Given the description of an element on the screen output the (x, y) to click on. 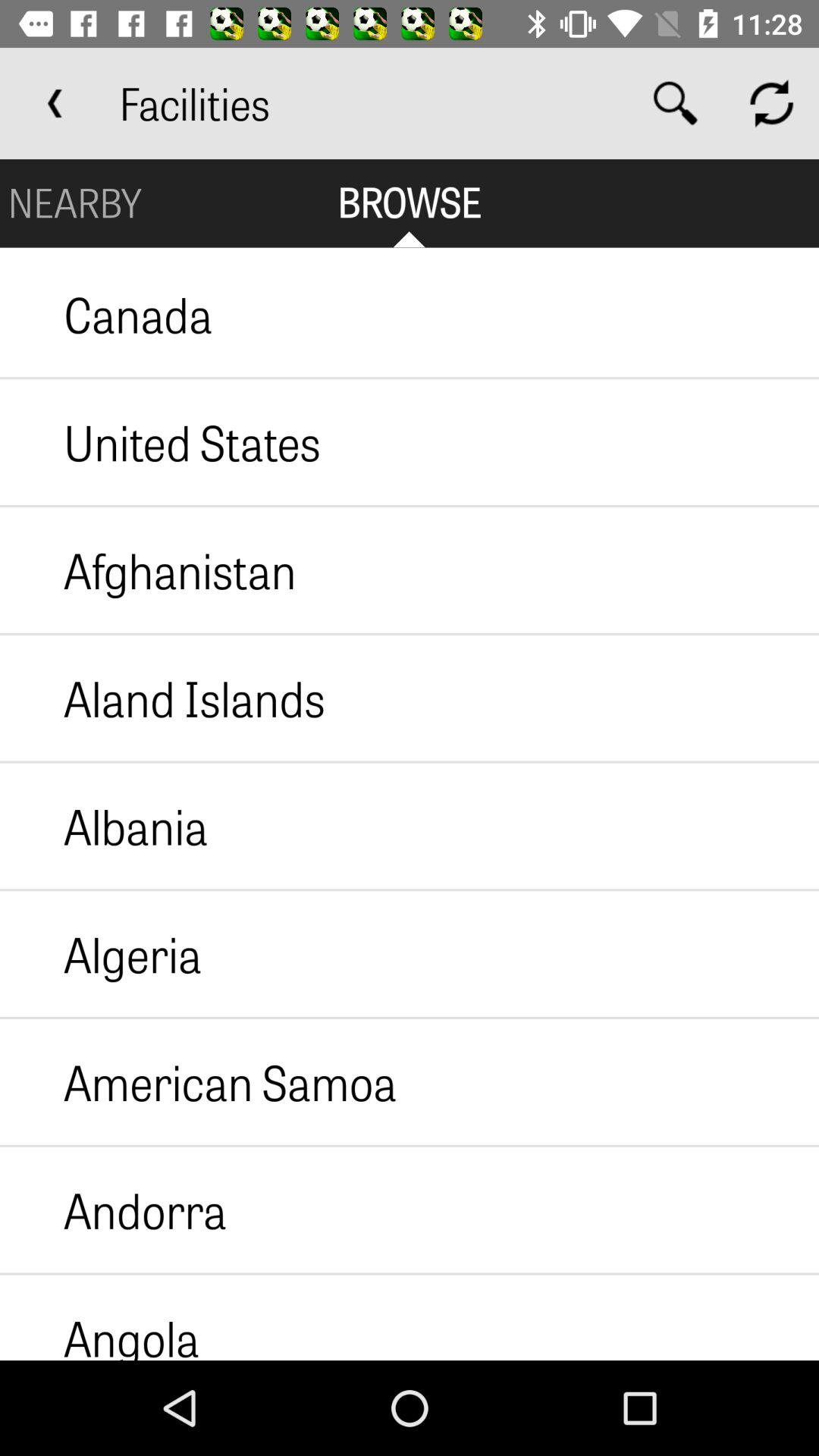
swipe to the algeria (100, 953)
